Given the description of an element on the screen output the (x, y) to click on. 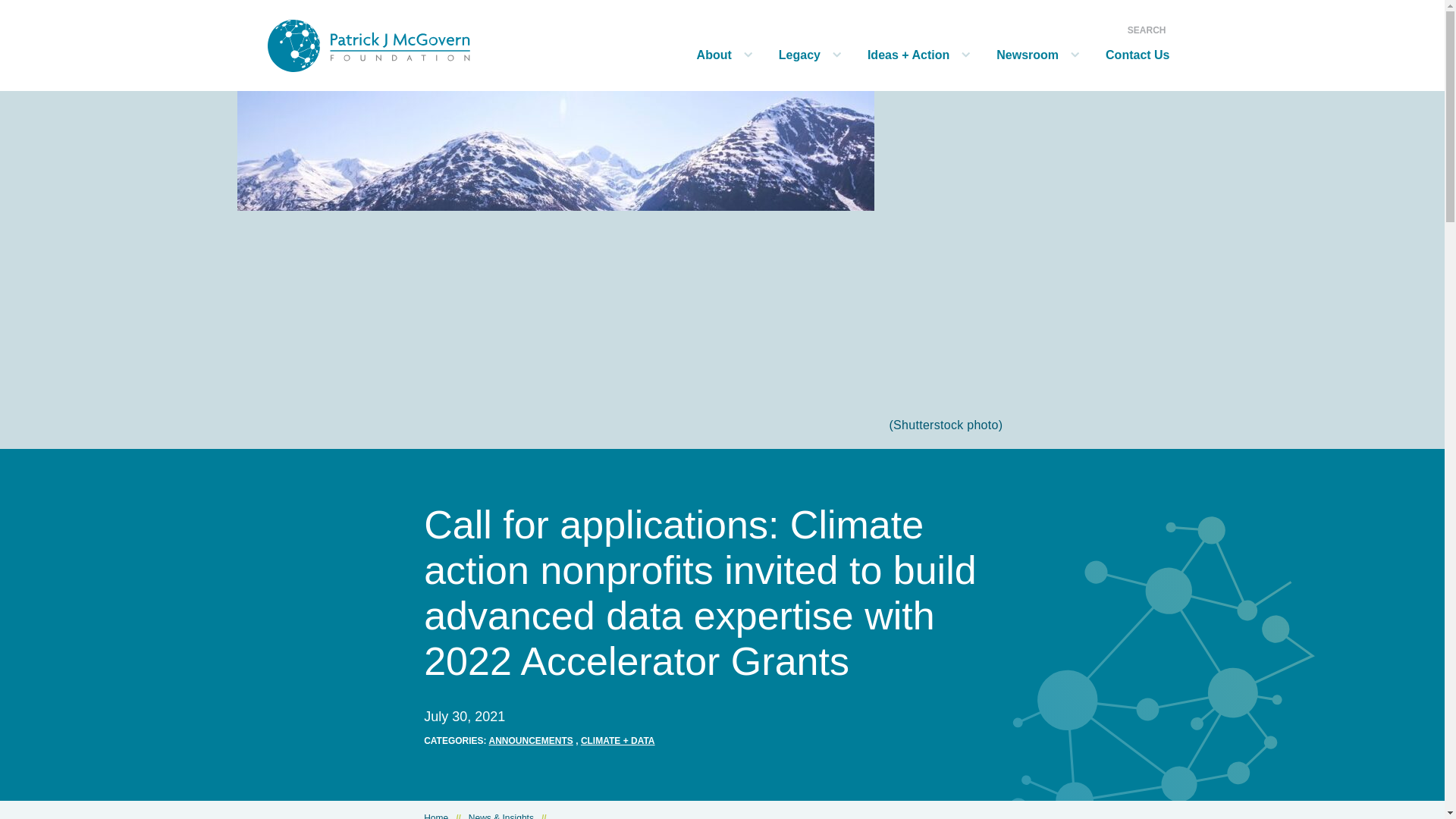
Newsroom (1019, 65)
Patrick J. McGovern Foundation (408, 45)
Contact Us (1129, 65)
Legacy (791, 65)
About (706, 65)
SEARCH (1146, 29)
